Given the description of an element on the screen output the (x, y) to click on. 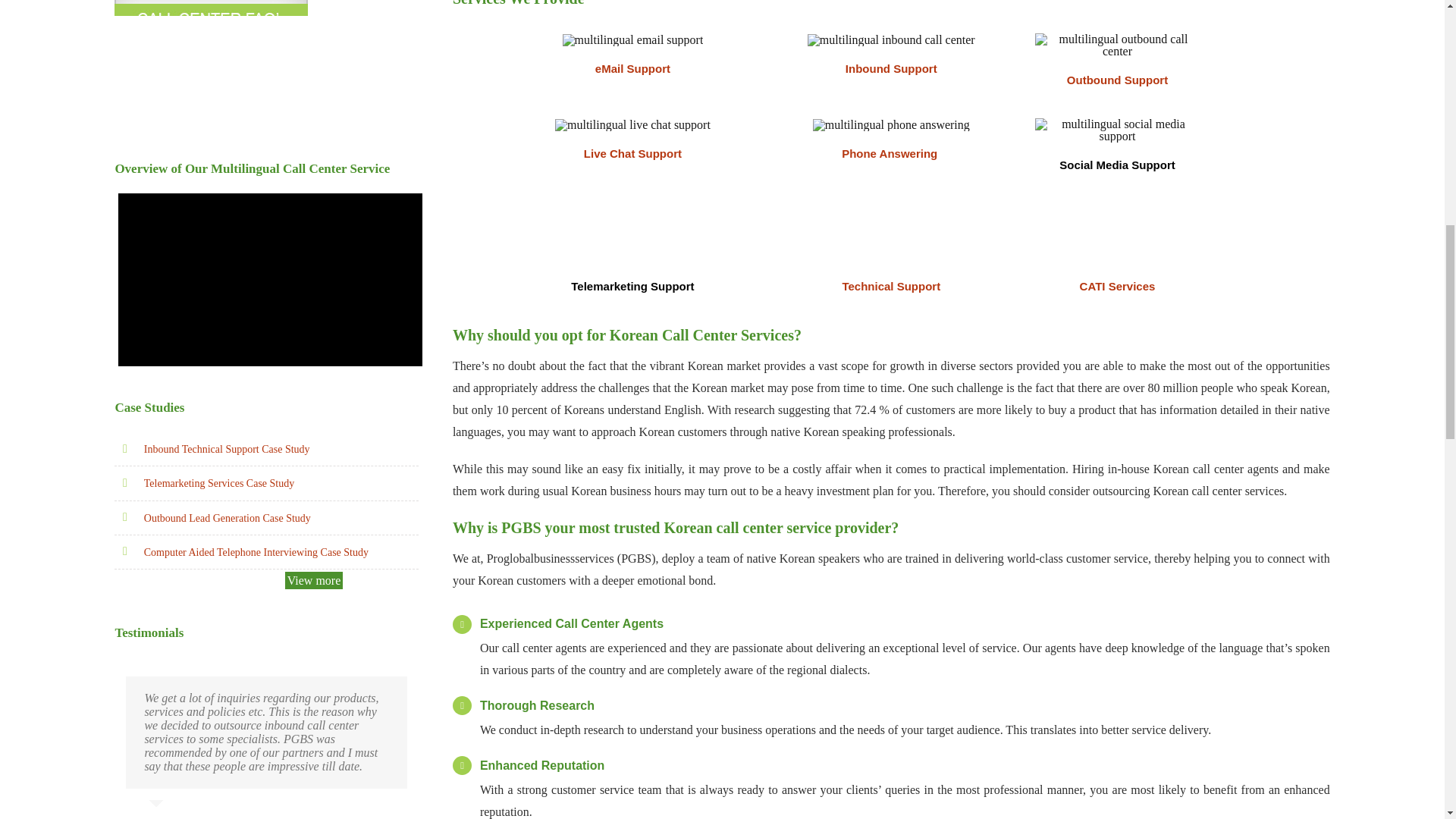
Phone-Answering (891, 75)
outbound-Call-Centers (890, 124)
eMail-Support (891, 263)
Inbound-Call-Centers (1116, 45)
Live-Chat-Support (632, 39)
Multilingual-Telemarketing (891, 160)
Technical-support (891, 39)
Social-Media-Customer-Support (632, 124)
